Given the description of an element on the screen output the (x, y) to click on. 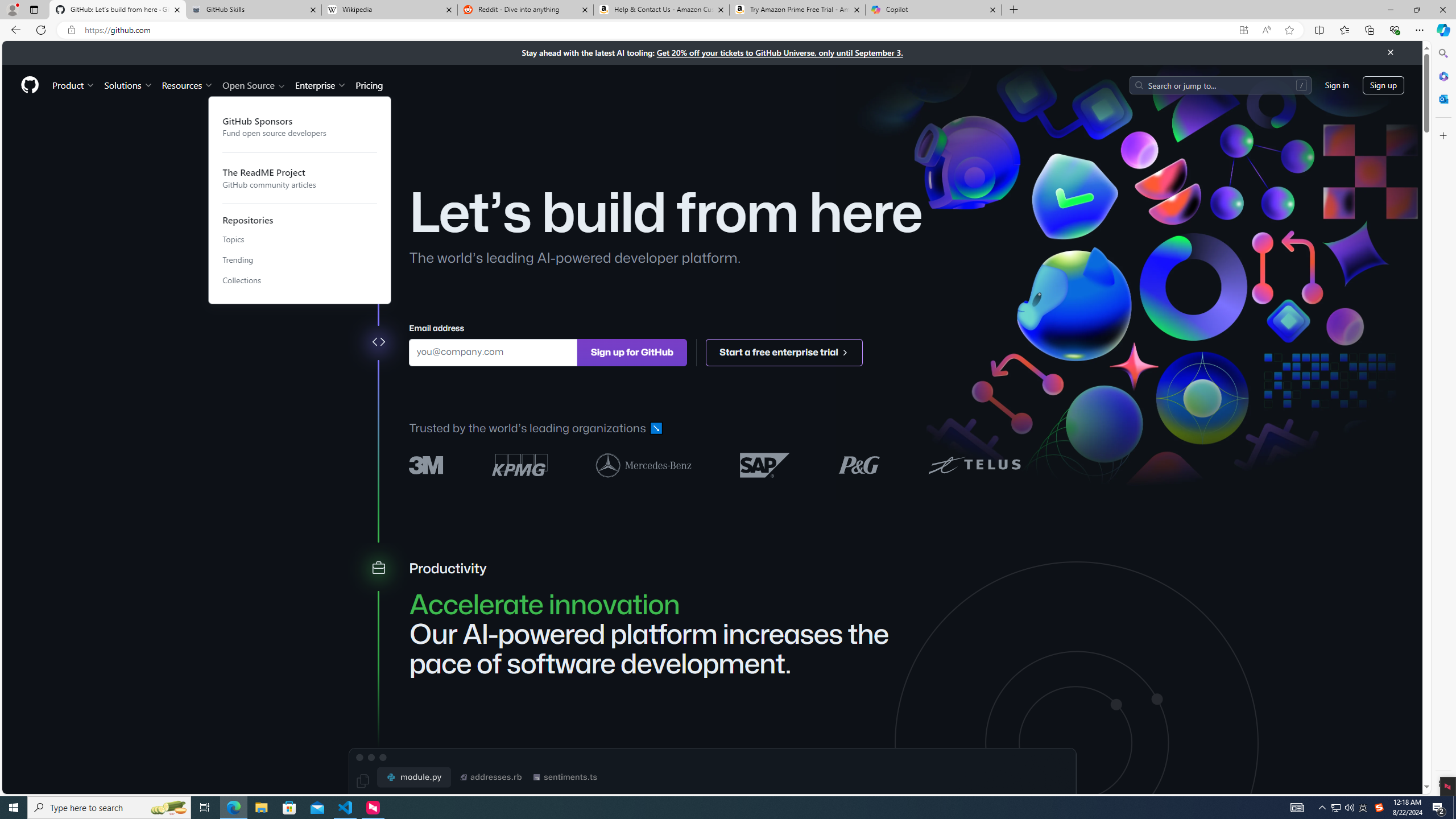
Mercedes-Benz logo (643, 464)
Start a free enterprise trial  (784, 352)
Homepage (29, 85)
Reddit - Dive into anything (525, 9)
Solutions (128, 84)
Customize (1442, 135)
GitHub Skills (253, 9)
